Given the description of an element on the screen output the (x, y) to click on. 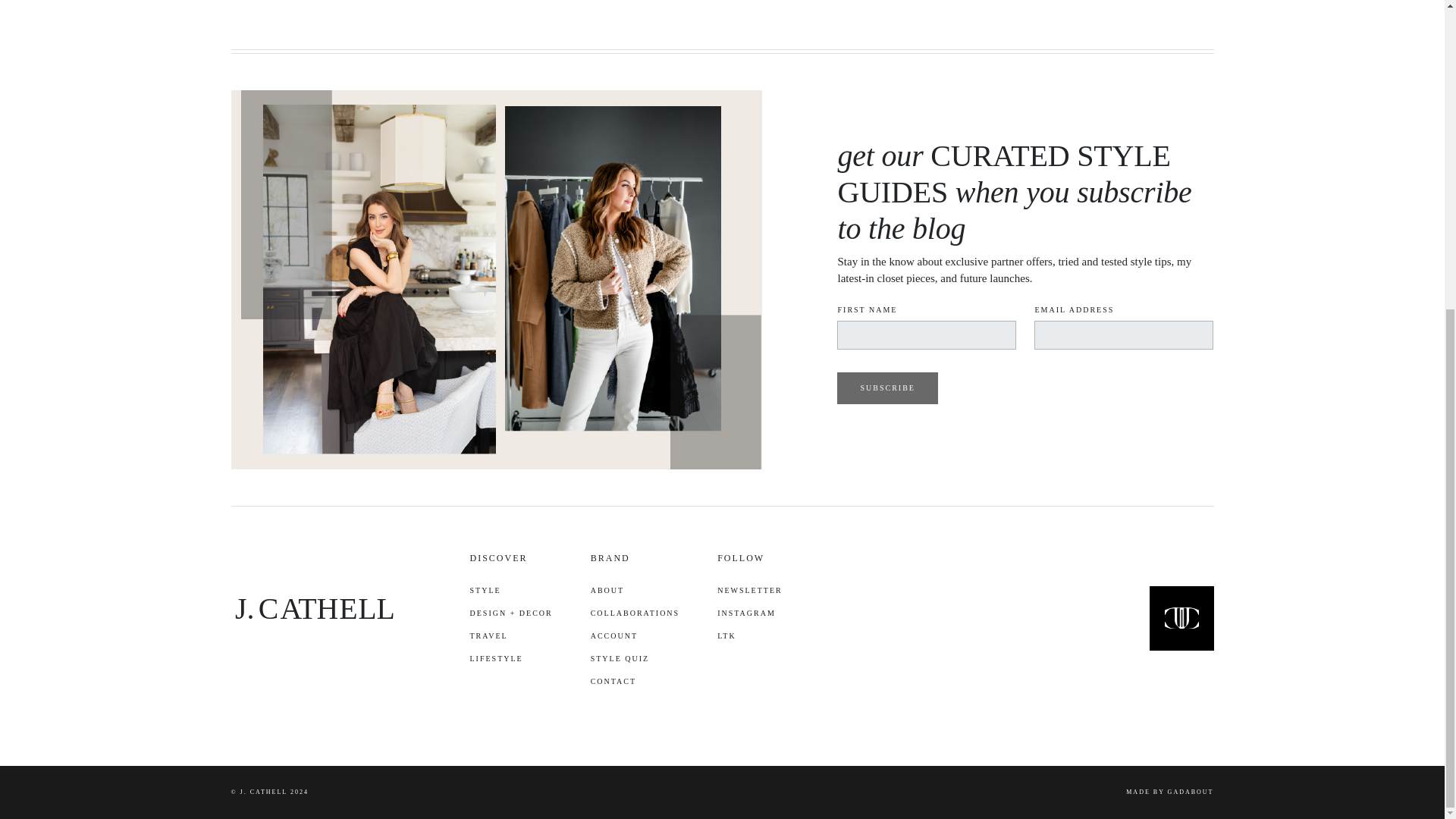
TRAVEL (511, 635)
ABOUT (635, 590)
LIFESTYLE (511, 658)
STYLE (511, 590)
COLLABORATIONS (635, 612)
SUBSCRIBE (887, 388)
